Given the description of an element on the screen output the (x, y) to click on. 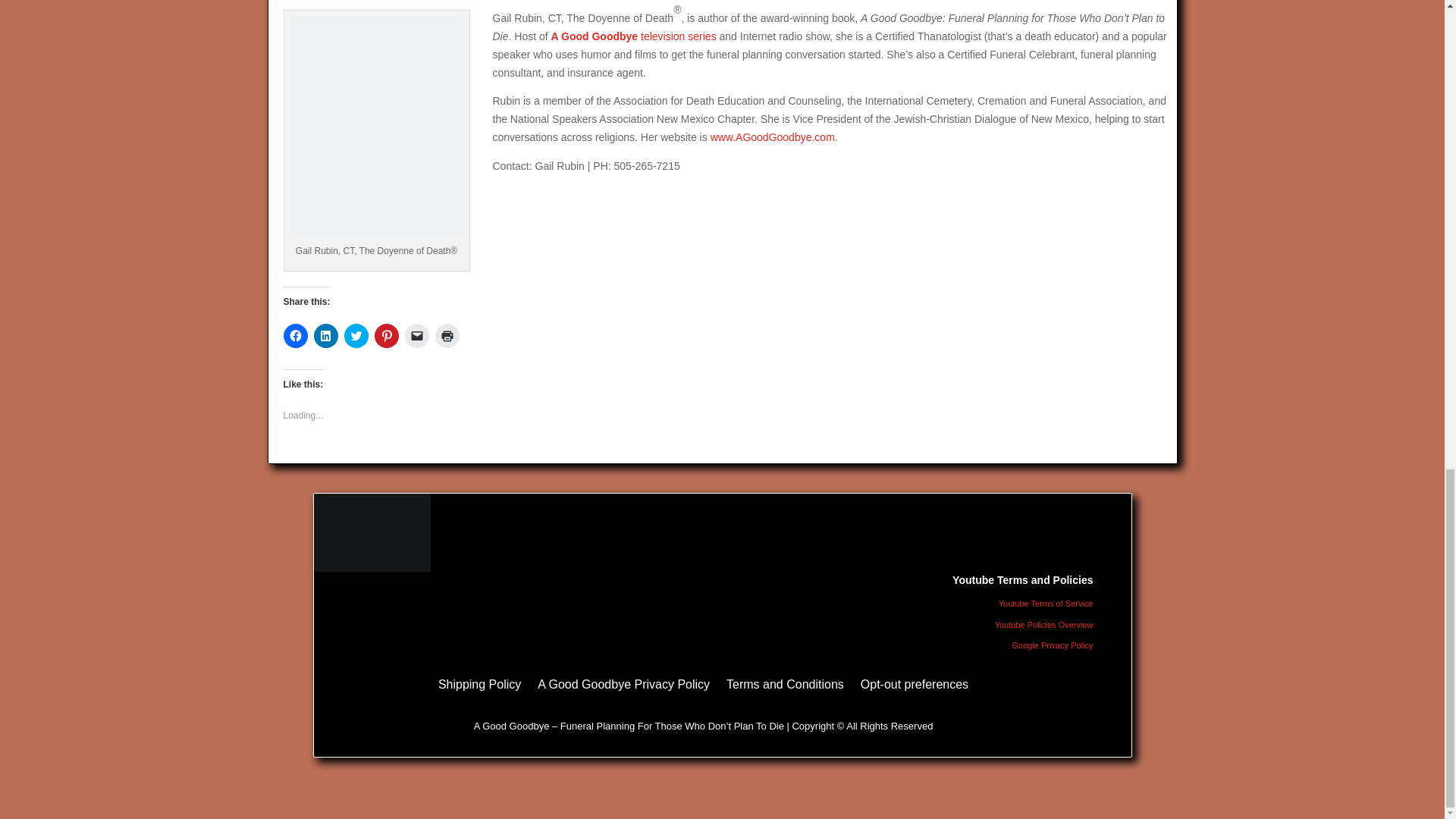
Click to print (447, 335)
Click to share on LinkedIn (325, 335)
Click to share on Twitter (355, 335)
Click to share on Facebook (295, 335)
Click to email a link to a friend (416, 335)
Click to share on Pinterest (386, 335)
